Given the description of an element on the screen output the (x, y) to click on. 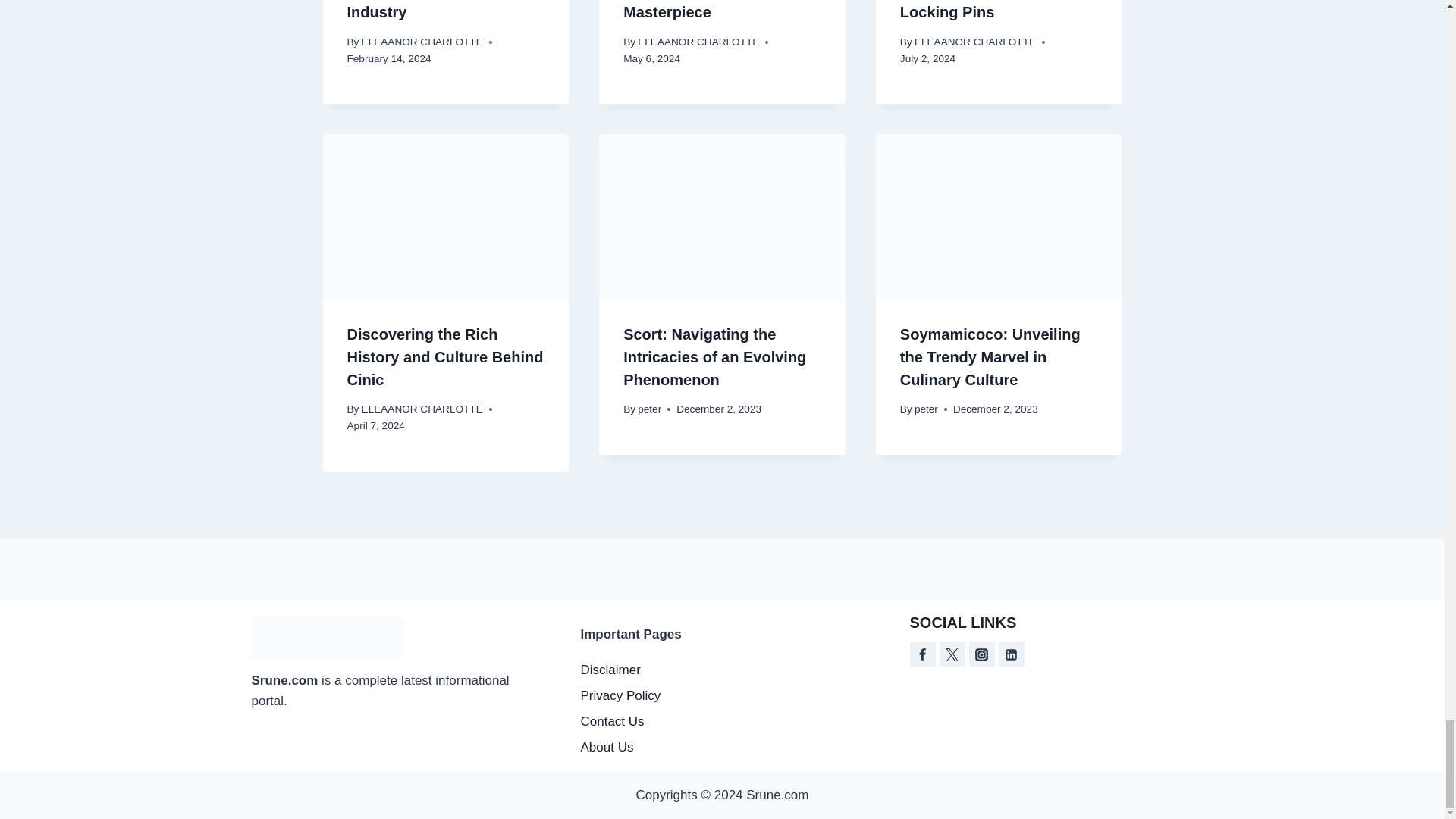
ELEAANOR CHARLOTTE (974, 41)
ELEAANOR CHARLOTTE (422, 408)
ELEAANOR CHARLOTTE (422, 41)
ELEAANOR CHARLOTTE (697, 41)
The Power and Impact of Eversource in the Energy Industry (438, 10)
Discovering the Rich History and Culture Behind Cinic (445, 356)
